Given the description of an element on the screen output the (x, y) to click on. 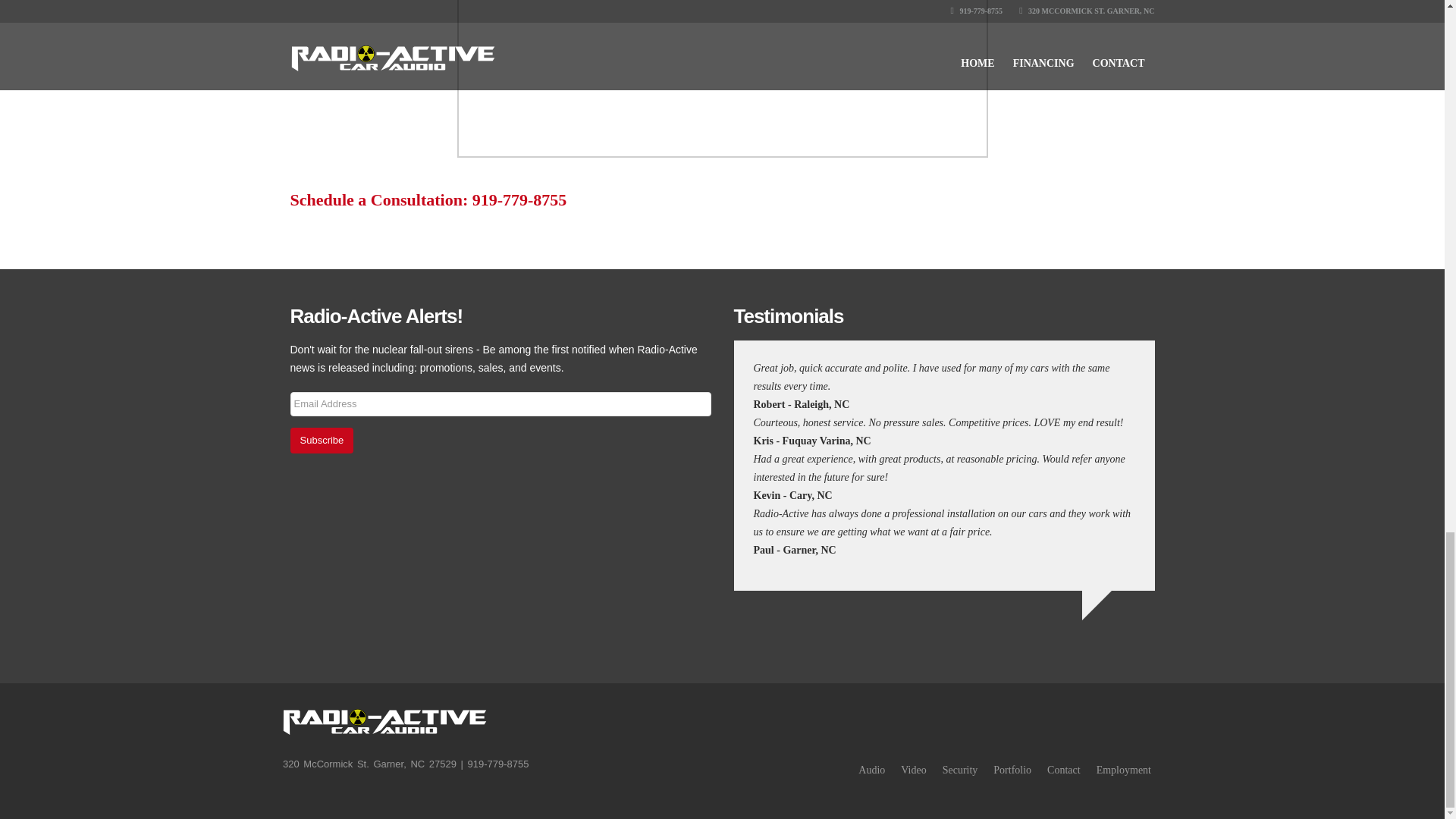
Portfolio (1011, 769)
Audio (872, 769)
Security (960, 769)
Video (913, 769)
Subscribe (321, 440)
Contact (1063, 769)
Employment (1123, 769)
